Given the description of an element on the screen output the (x, y) to click on. 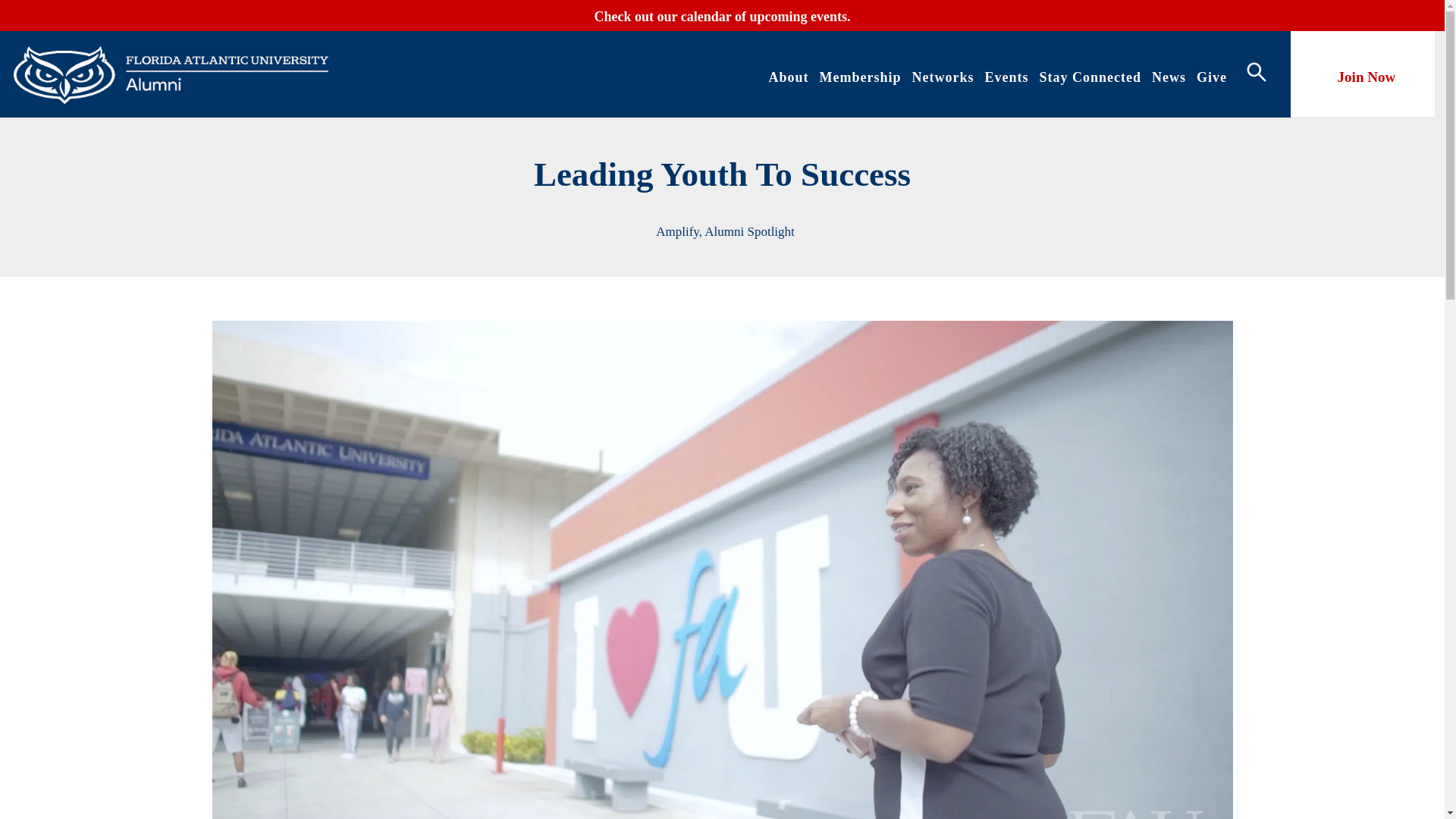
News (1168, 77)
Events (1005, 77)
Networks (942, 77)
Stay Connected (1090, 77)
About (788, 77)
Give (1211, 77)
Membership (859, 77)
Check out our calendar of upcoming events. (722, 27)
